Given the description of an element on the screen output the (x, y) to click on. 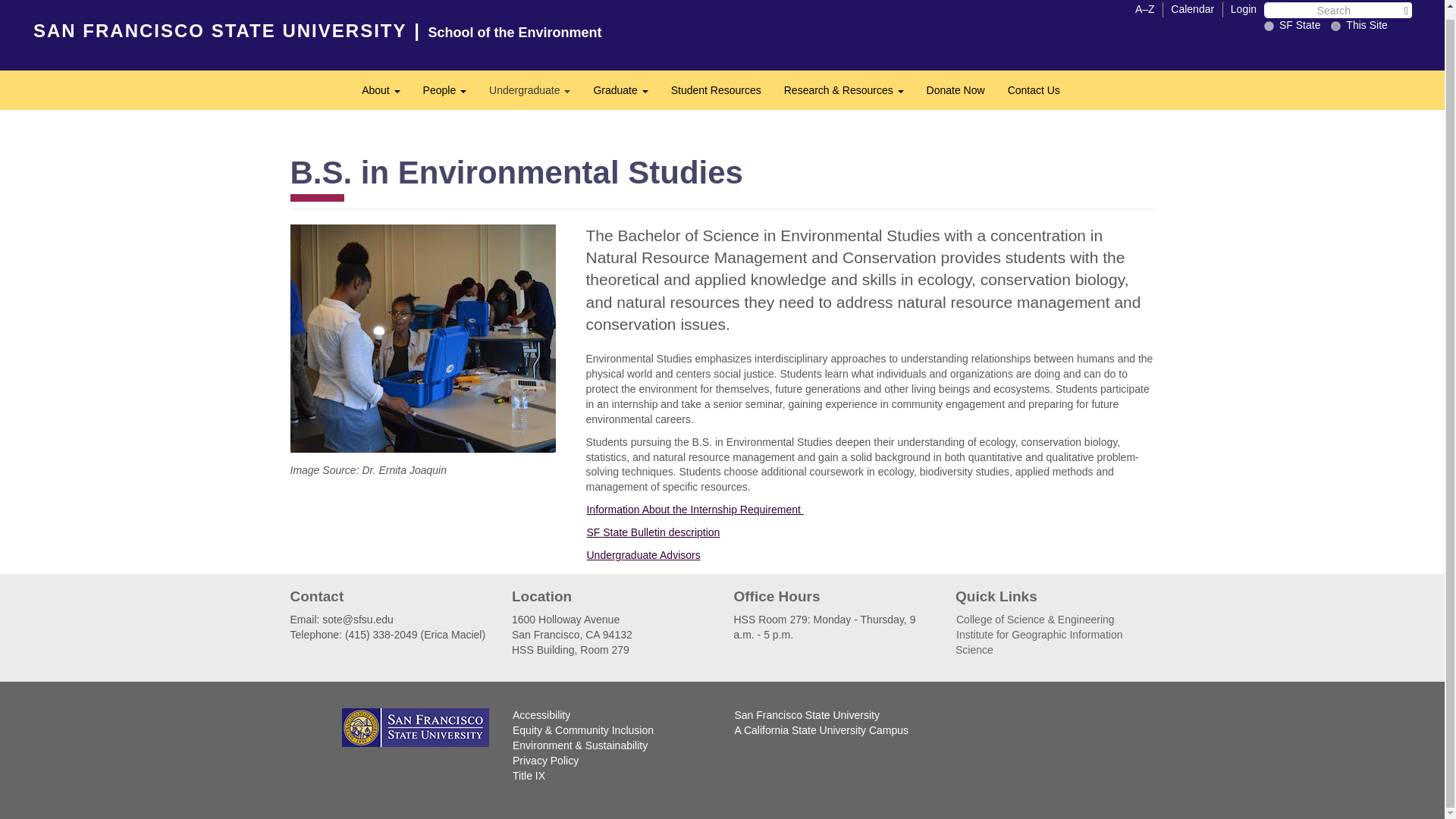
School of the Environment (515, 31)
SAN FRANCISCO STATE UNIVERSITY (219, 29)
local (444, 89)
Student Resources (1335, 26)
global (619, 89)
Login (716, 89)
Search SF State (1268, 26)
Calendar (1243, 8)
